Given the description of an element on the screen output the (x, y) to click on. 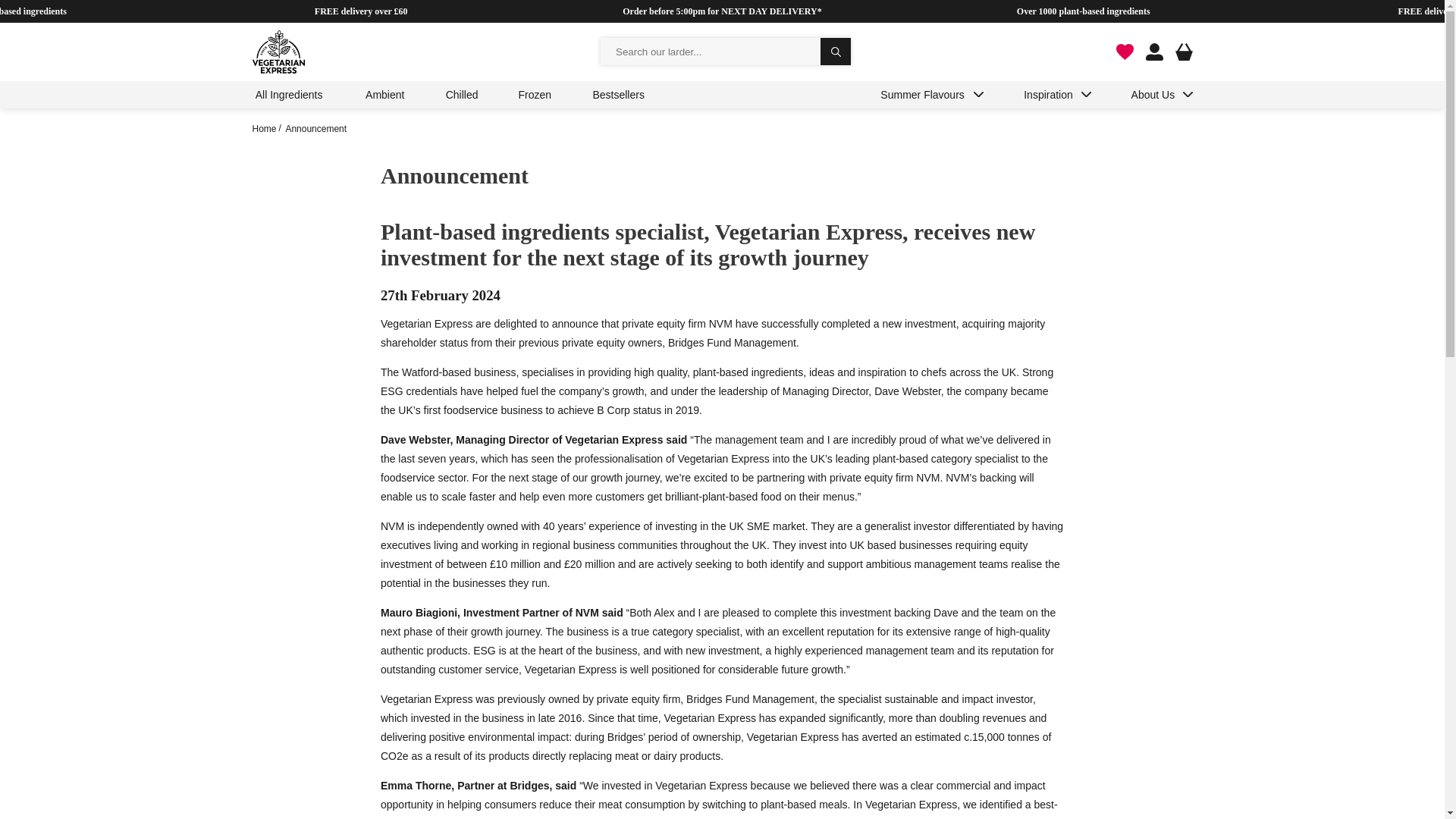
Home (263, 128)
Ambient (385, 94)
All Ingredients (287, 94)
